Given the description of an element on the screen output the (x, y) to click on. 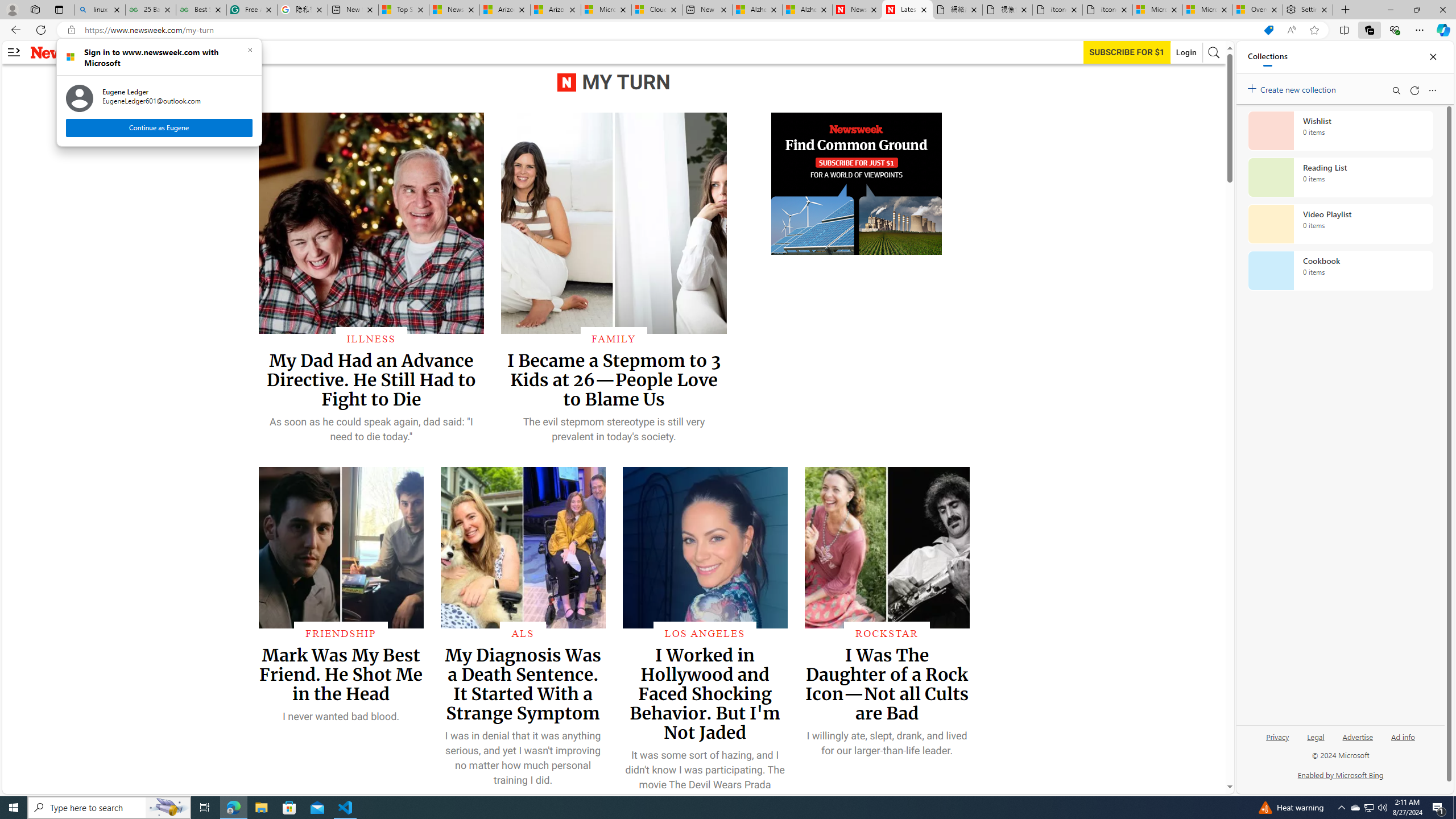
Top Stories - MSN (403, 9)
Microsoft account | Privacy (1207, 9)
Overview (1257, 9)
Running applications (717, 807)
More options menu (1432, 90)
Login (1186, 51)
Show desktop (1454, 807)
Cloud Computing Services | Microsoft Azure (656, 9)
